Given the description of an element on the screen output the (x, y) to click on. 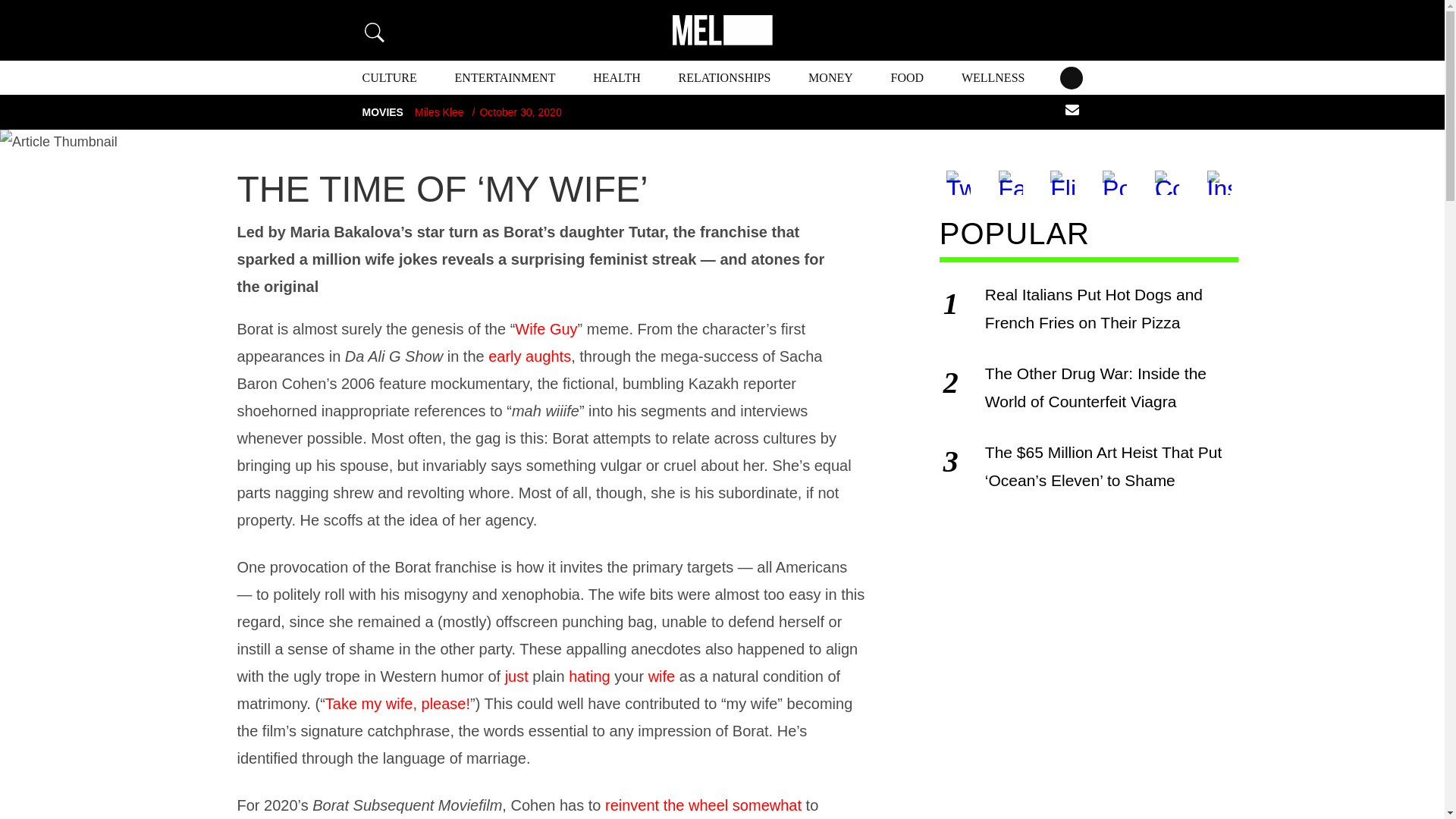
Pocket (1114, 182)
Copy Link (1166, 182)
ENTERTAINMENT (505, 77)
RELATIONSHIPS (724, 77)
WELLNESS (992, 77)
Twitter (958, 182)
Posts by Miles Klee (439, 111)
HEALTH (616, 77)
MEL Magazine (721, 30)
MONEY (830, 77)
CULTURE (389, 77)
Facebook (1010, 182)
Instagram (1219, 182)
FOOD (907, 77)
Flipboard (1061, 182)
